Given the description of an element on the screen output the (x, y) to click on. 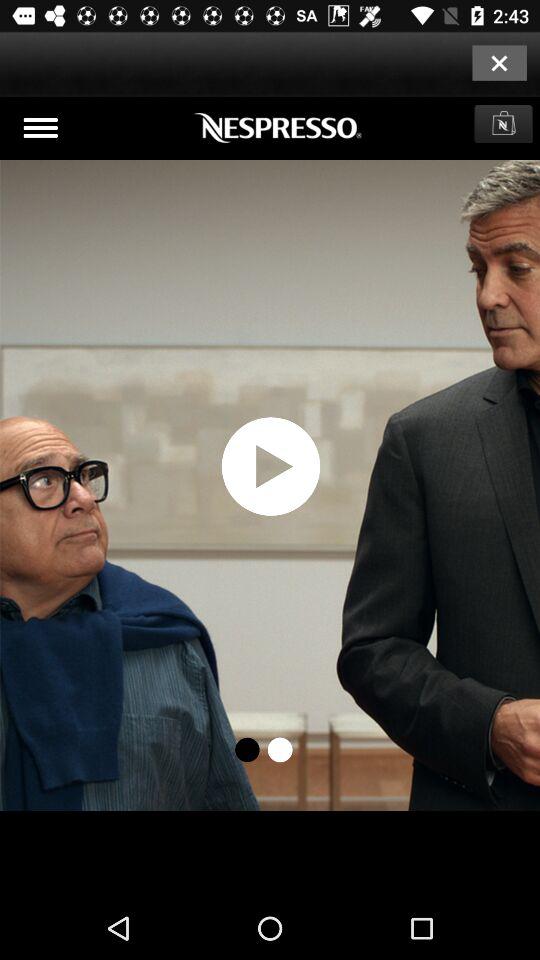
play video (270, 497)
